Given the description of an element on the screen output the (x, y) to click on. 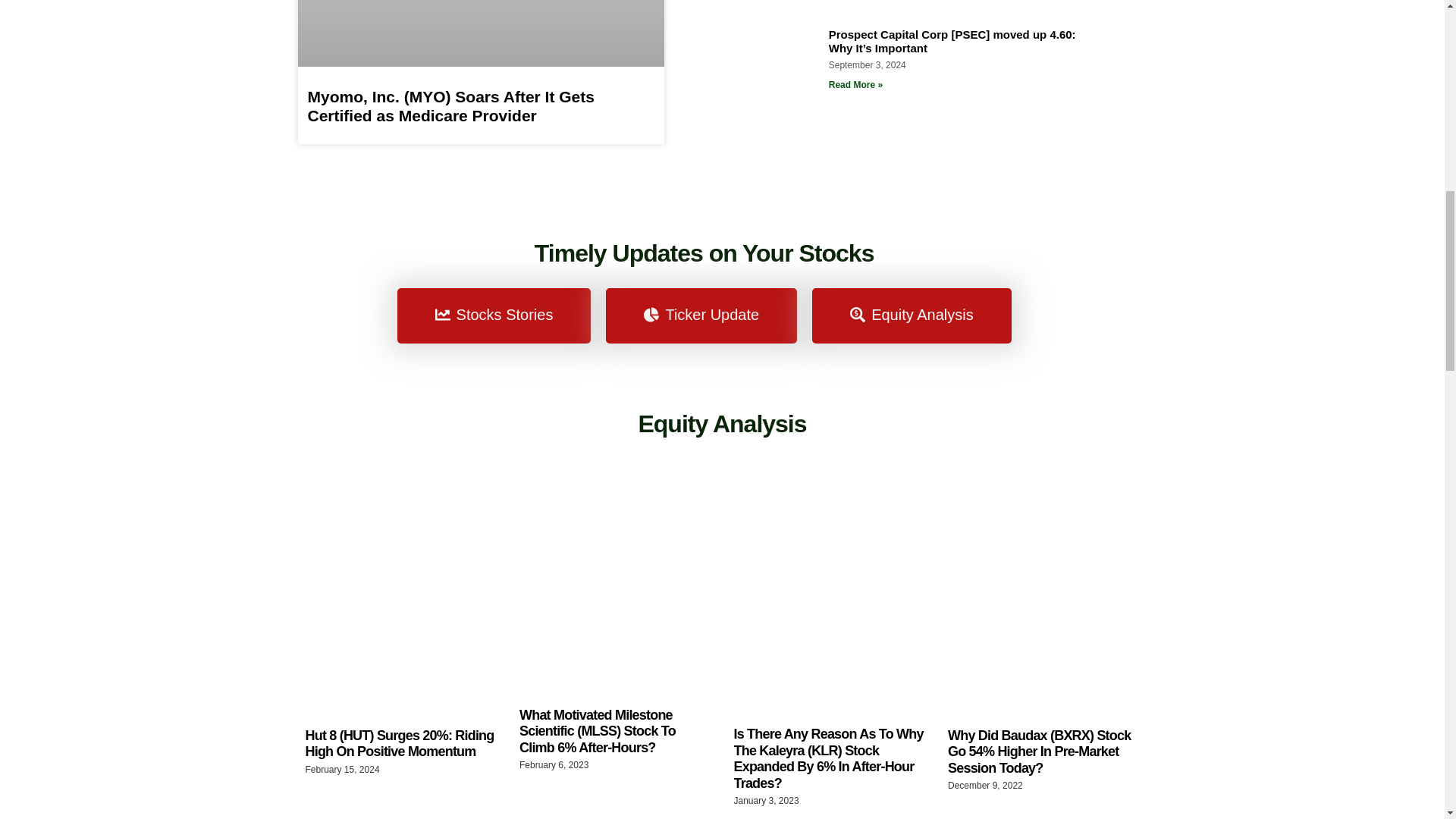
Equity Analysis (911, 315)
Equity Analysis (721, 423)
Ticker Update (700, 315)
Stocks Stories (494, 315)
